Given the description of an element on the screen output the (x, y) to click on. 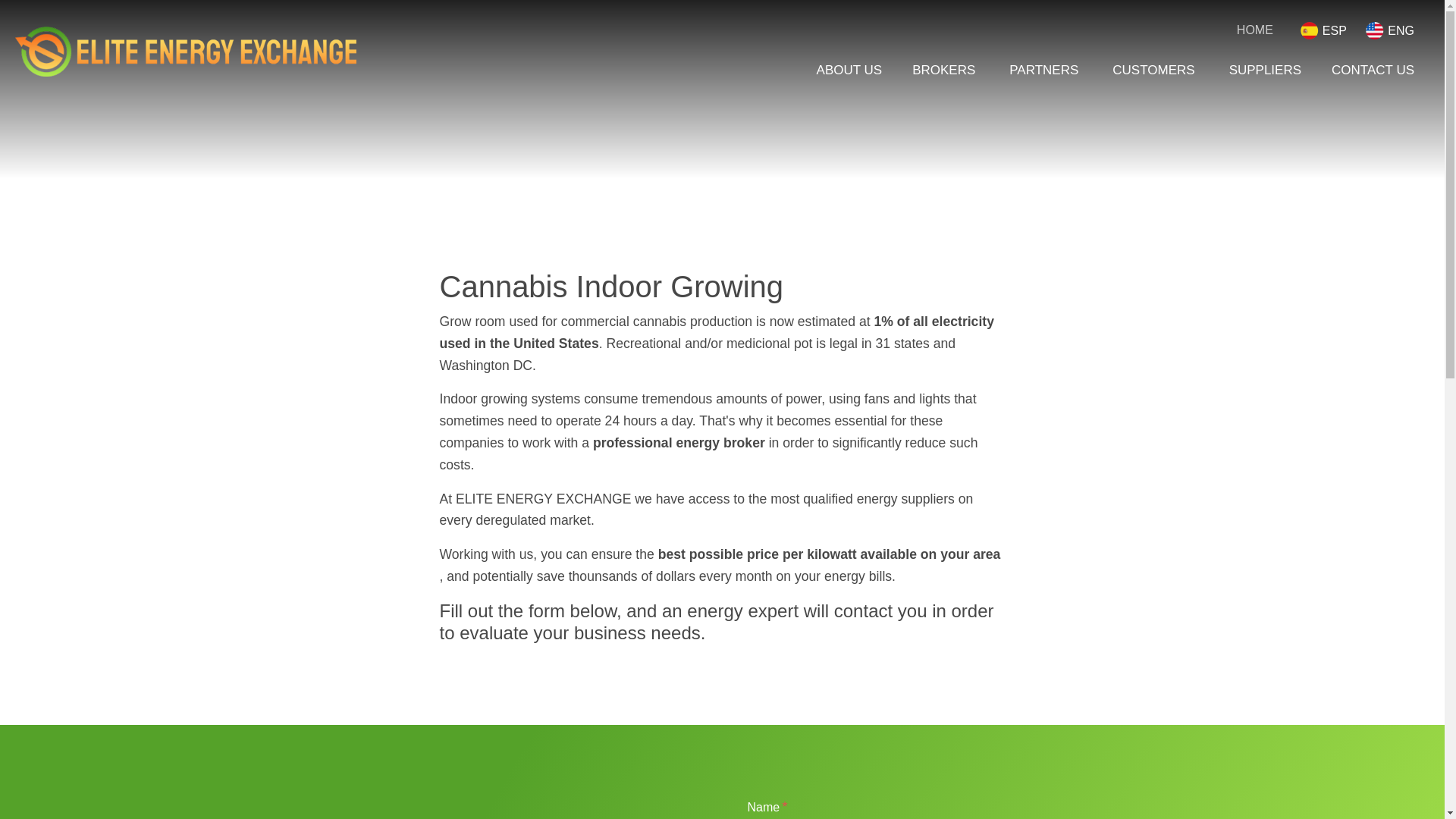
PARTNERS (1045, 70)
ESP (1323, 30)
SUPPLIERS (1265, 70)
HOME (1250, 30)
CONTACT US (1372, 70)
ENG (1389, 30)
CUSTOMERS (1154, 70)
BROKERS (945, 70)
ABOUT US (850, 70)
